Given the description of an element on the screen output the (x, y) to click on. 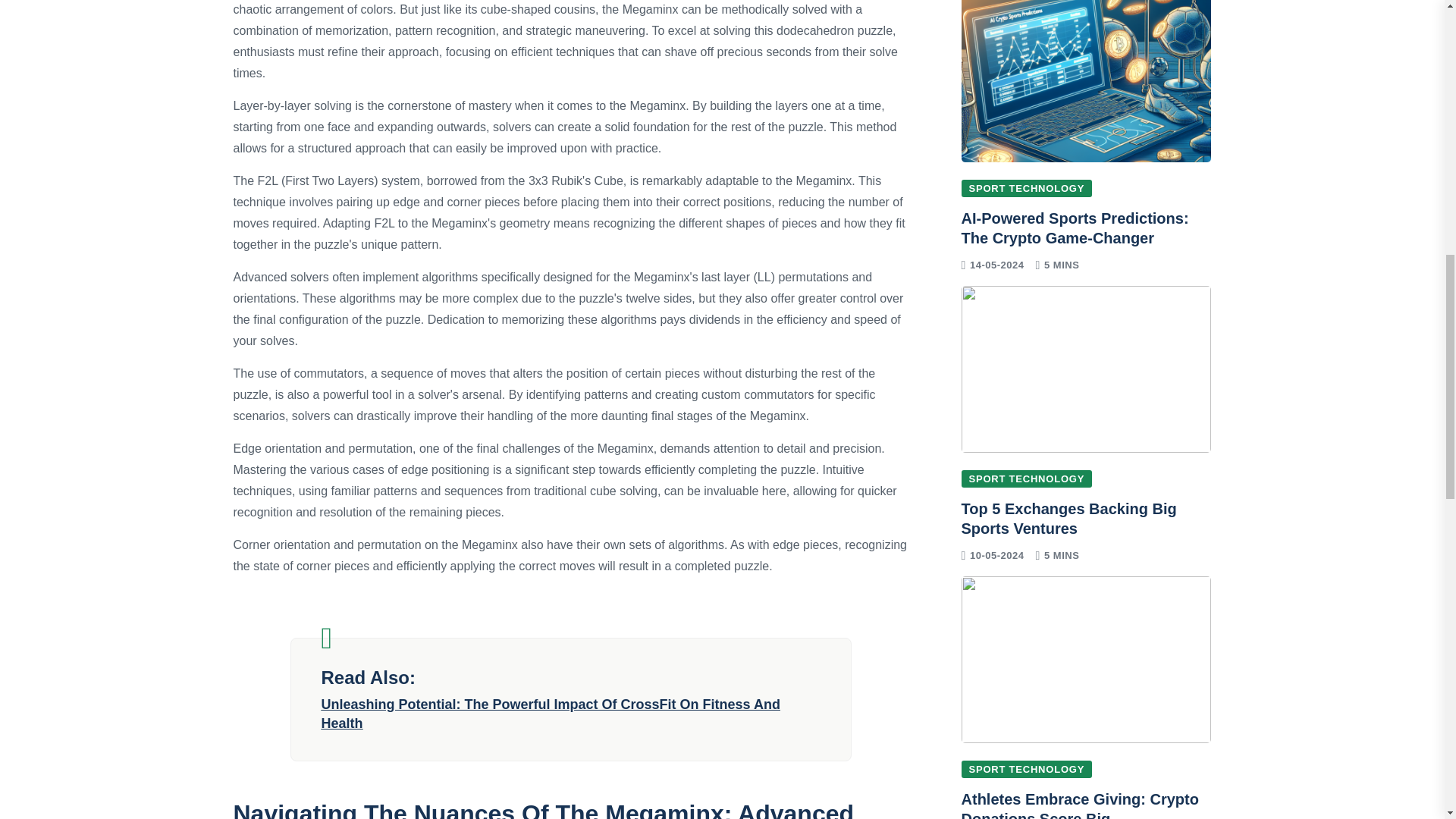
SPORT TECHNOLOGY (1026, 188)
AI-Powered Sports Predictions: The Crypto Game-Changer (1074, 227)
Top 5 Exchanges Backing Big Sports Ventures (1068, 518)
SPORT TECHNOLOGY (1026, 478)
